Given the description of an element on the screen output the (x, y) to click on. 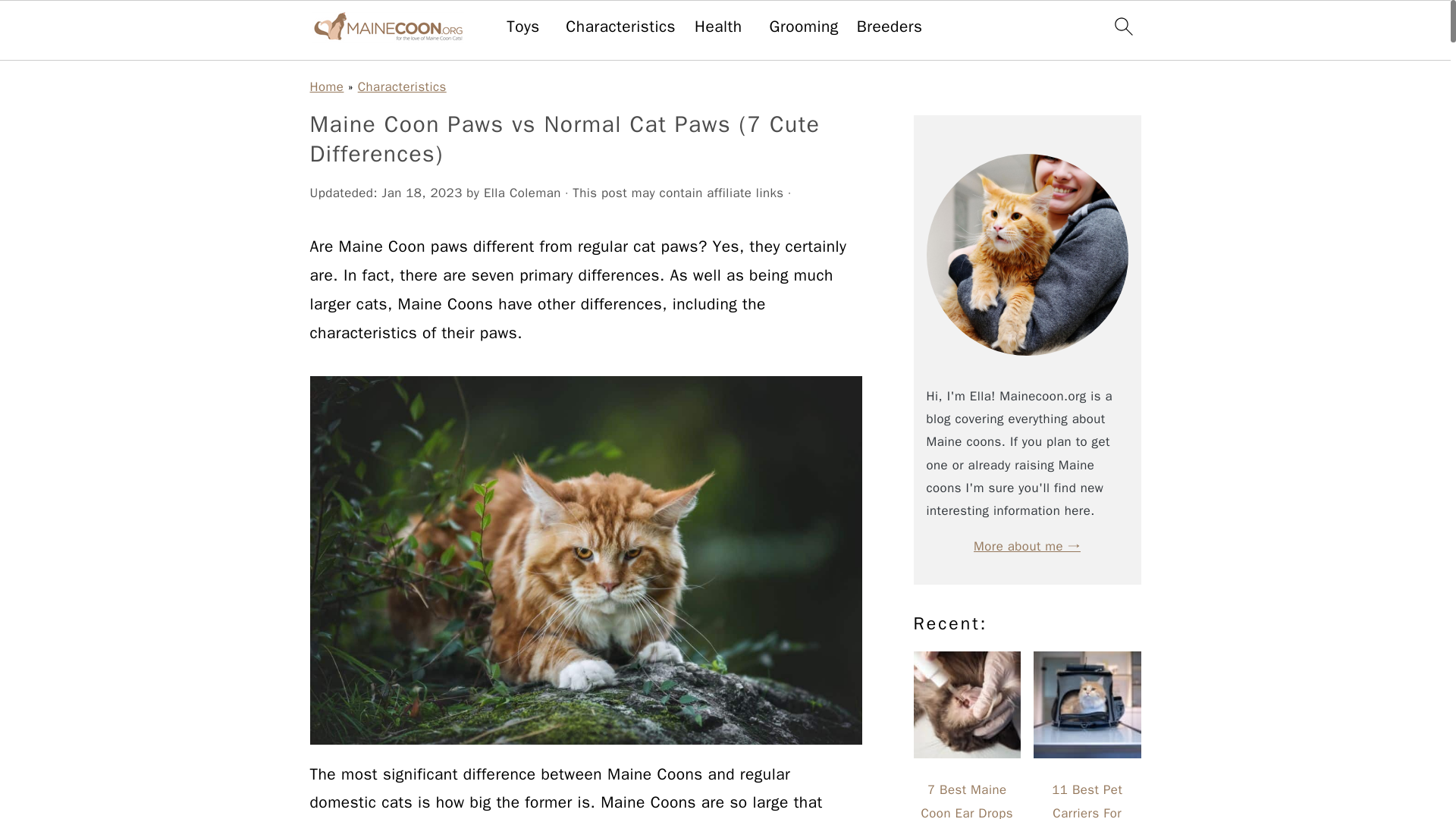
Breeders (890, 26)
Toys (523, 26)
Characteristics (620, 26)
Grooming (804, 26)
Health (718, 26)
Characteristics (402, 86)
search icon (1122, 26)
Home (325, 86)
